Given the description of an element on the screen output the (x, y) to click on. 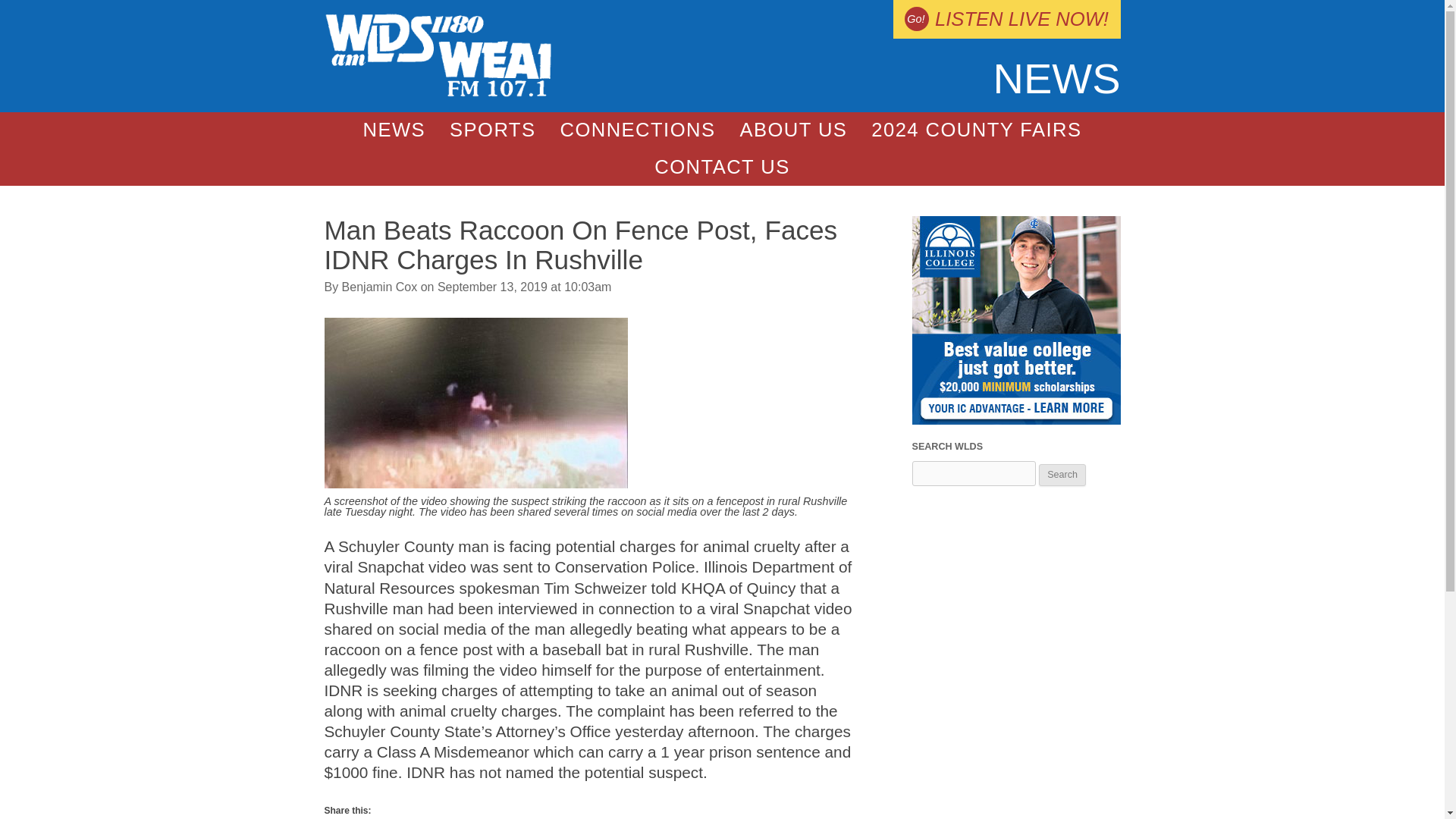
SPORTS (492, 130)
WLDS (437, 92)
NEWS (394, 130)
2024 COUNTY FAIRS (976, 130)
Search (1062, 475)
CONTACT US (722, 167)
CONNECTIONS (636, 130)
LISTEN LIVE NOW! (1006, 19)
ABOUT US (792, 130)
Search (1062, 475)
